Given the description of an element on the screen output the (x, y) to click on. 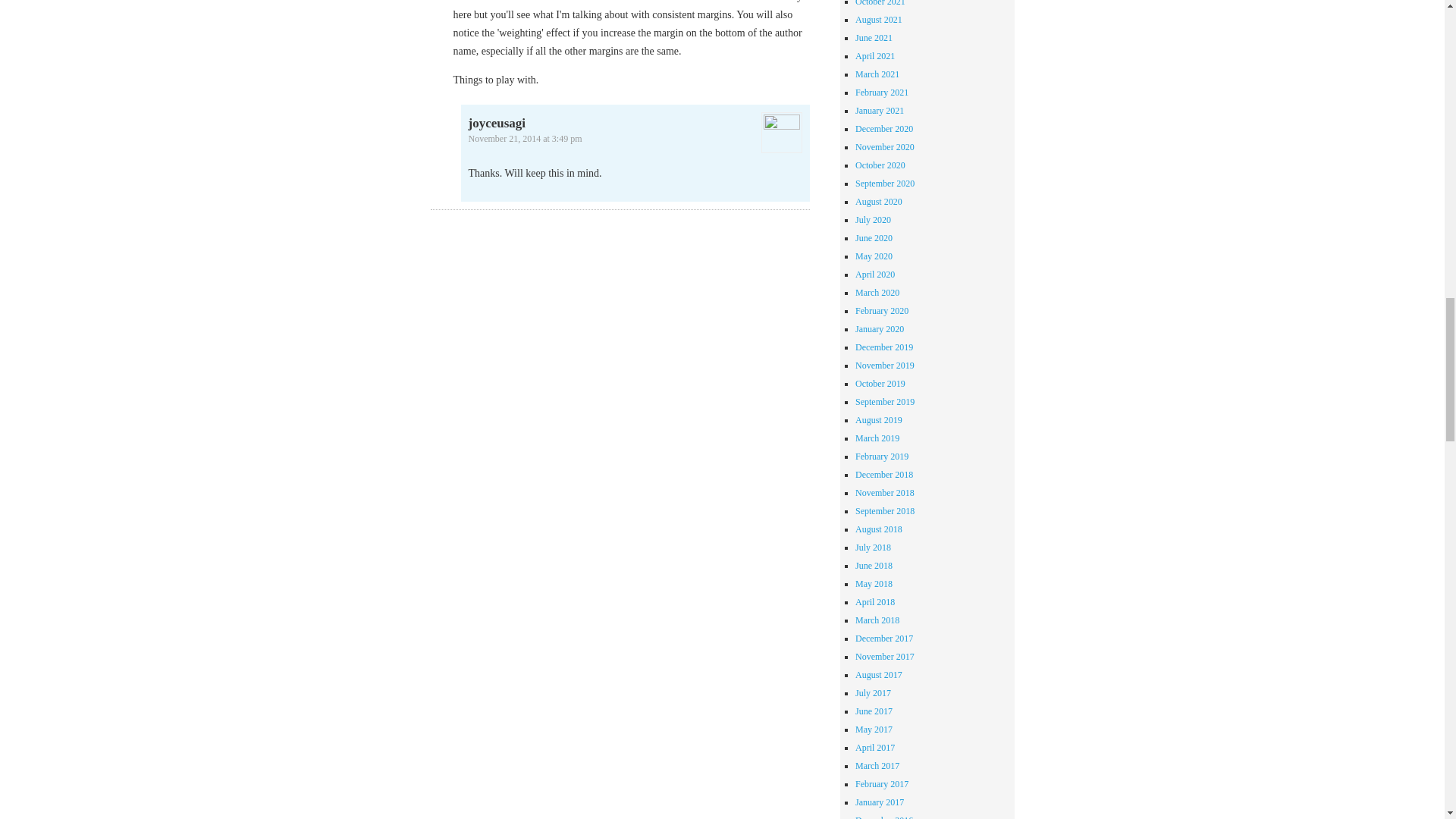
November 21, 2014 at 3:49 pm (525, 138)
